Given the description of an element on the screen output the (x, y) to click on. 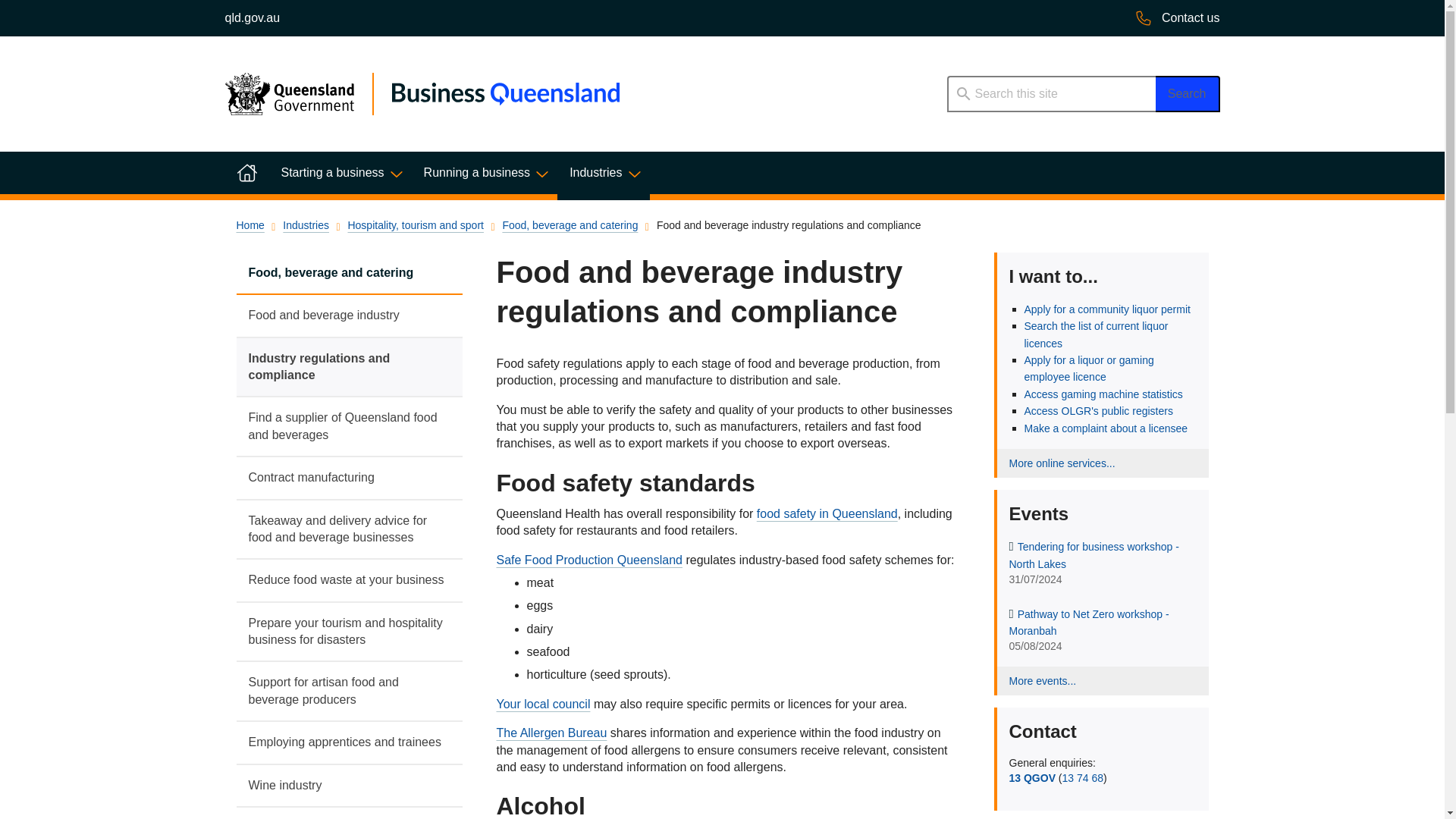
Search this site (1050, 94)
qld.gov.au (251, 18)
Contact us (1177, 18)
Home (245, 172)
Running a business (484, 172)
Starting a business (338, 172)
Search (1188, 94)
